Given the description of an element on the screen output the (x, y) to click on. 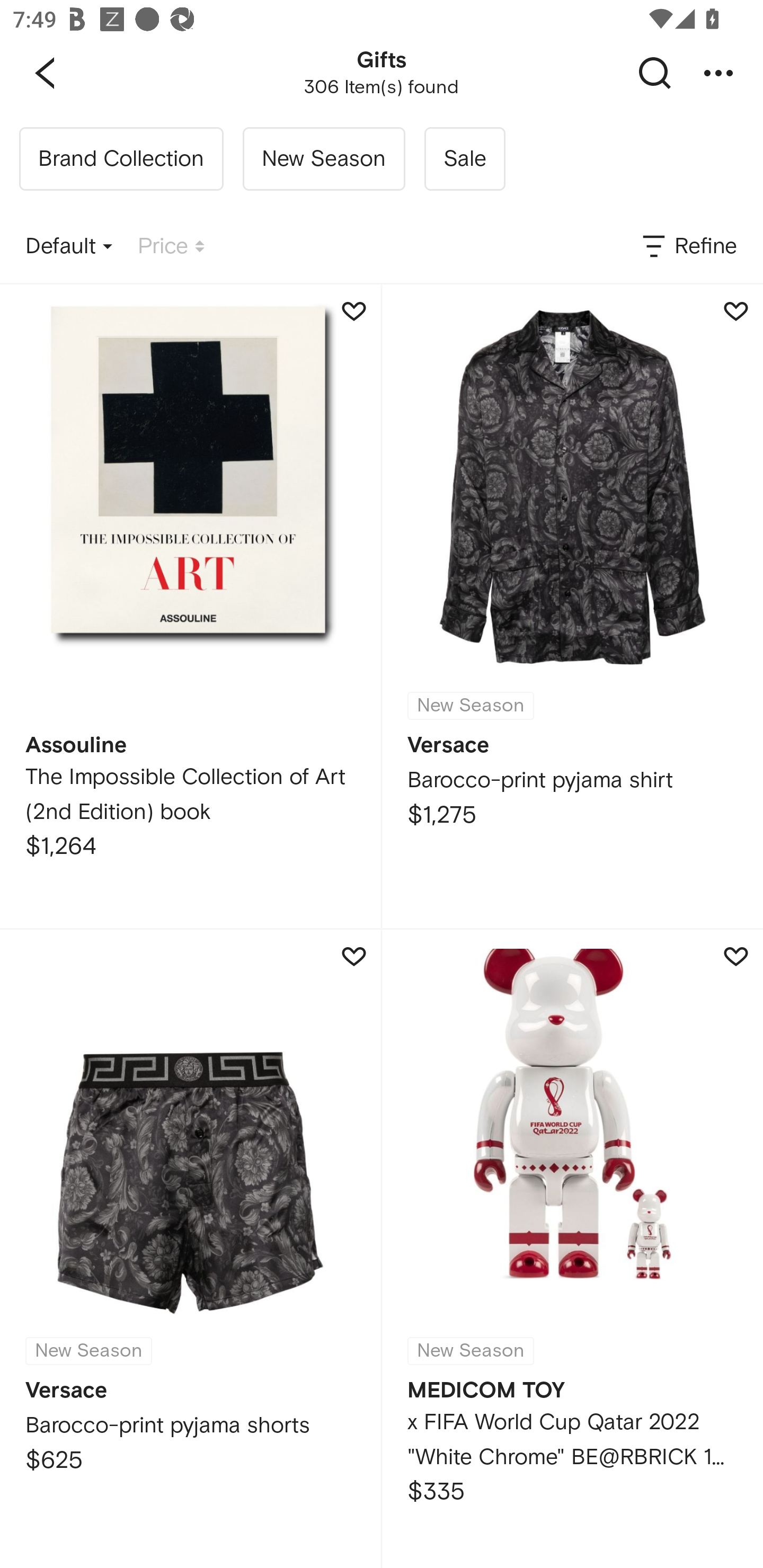
Brand Collection (121, 158)
New Season (323, 158)
Sale (464, 158)
Default (68, 246)
Price (171, 246)
Refine (688, 246)
